Given the description of an element on the screen output the (x, y) to click on. 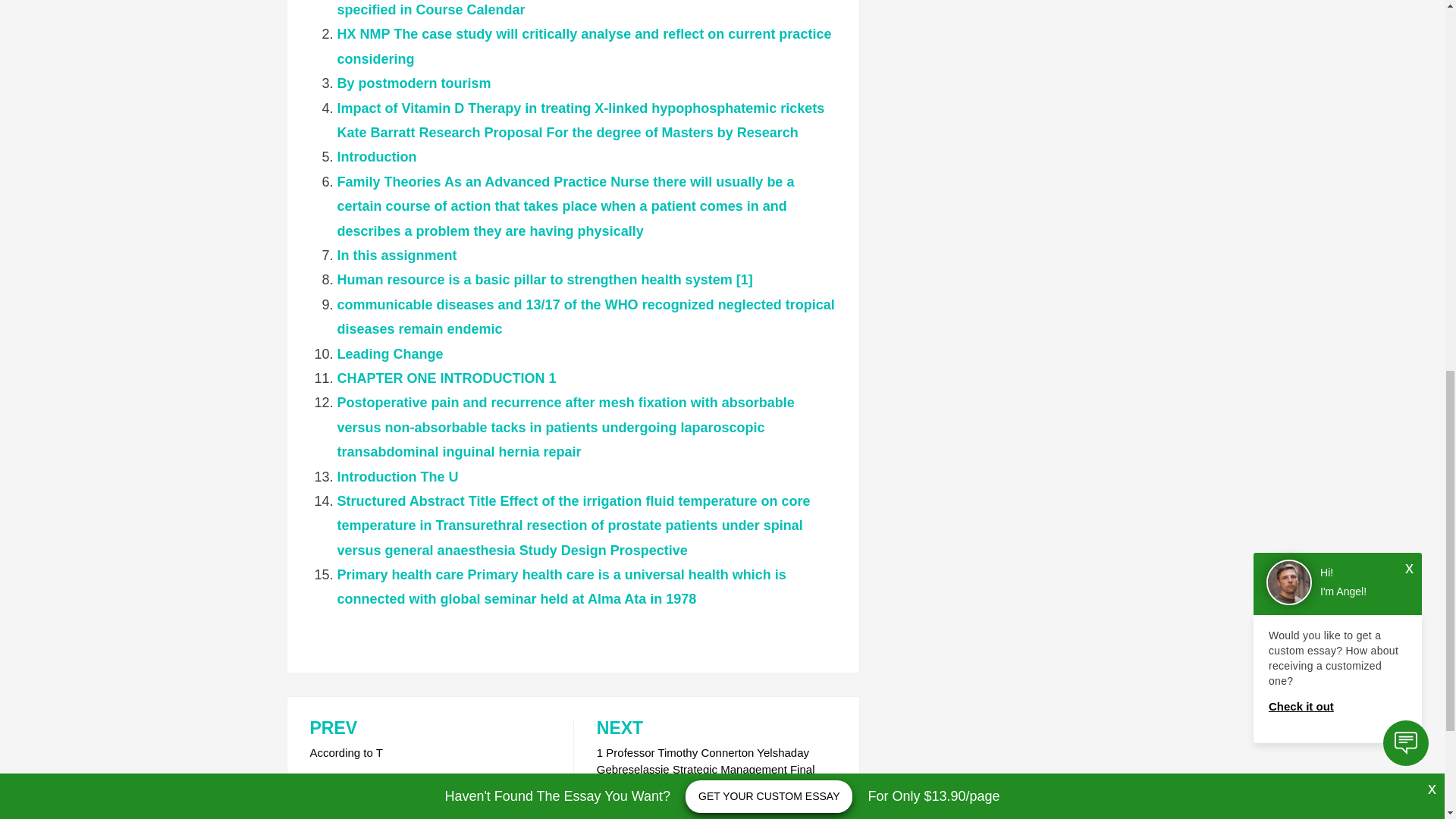
Introduction (376, 156)
CHAPTER ONE INTRODUCTION 1 (446, 378)
Leading Change (389, 353)
By postmodern tourism (413, 83)
CHAPTER ONE INTRODUCTION 1 (446, 378)
